Given the description of an element on the screen output the (x, y) to click on. 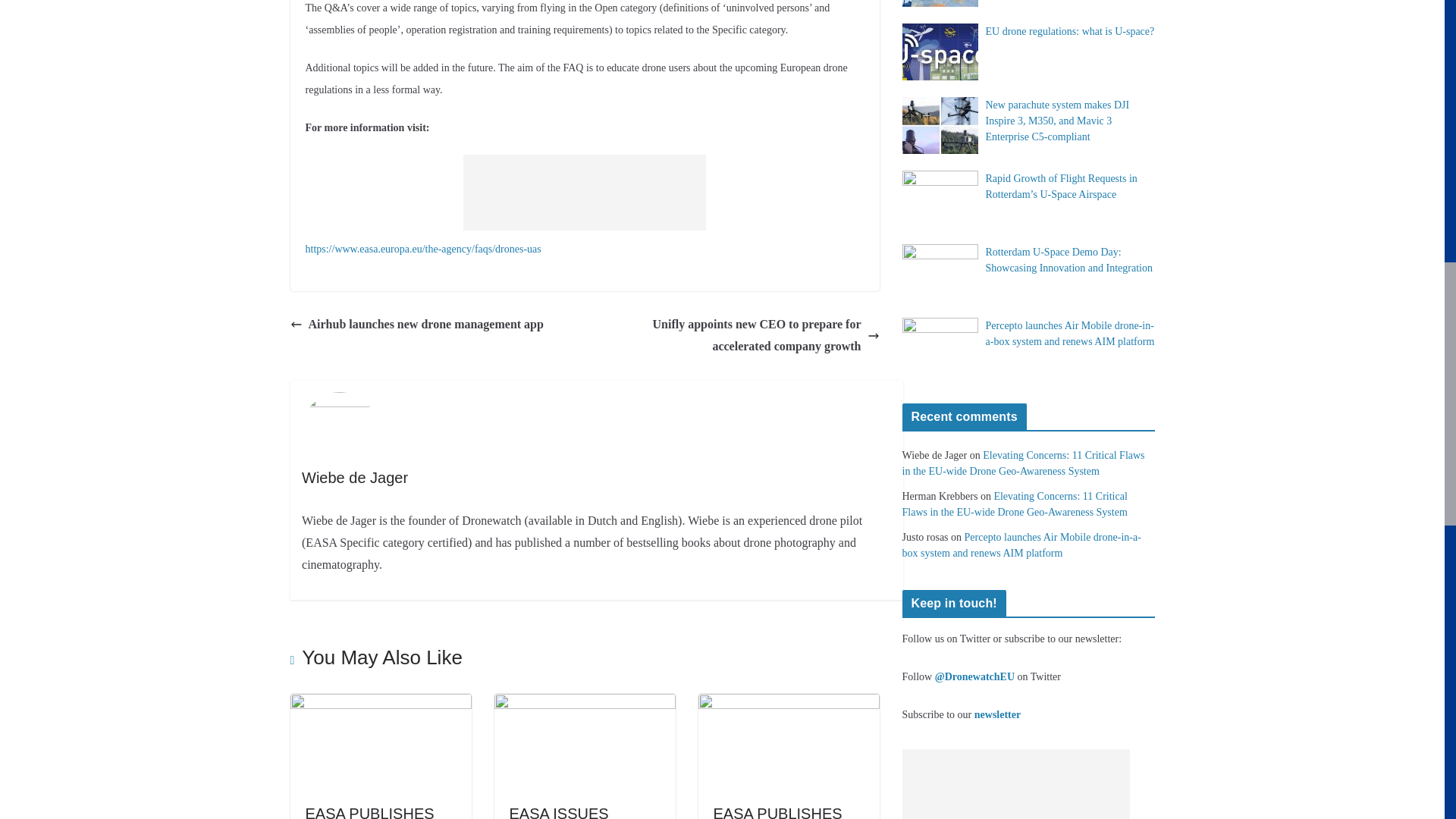
Airhub launches new drone management app (416, 324)
